Given the description of an element on the screen output the (x, y) to click on. 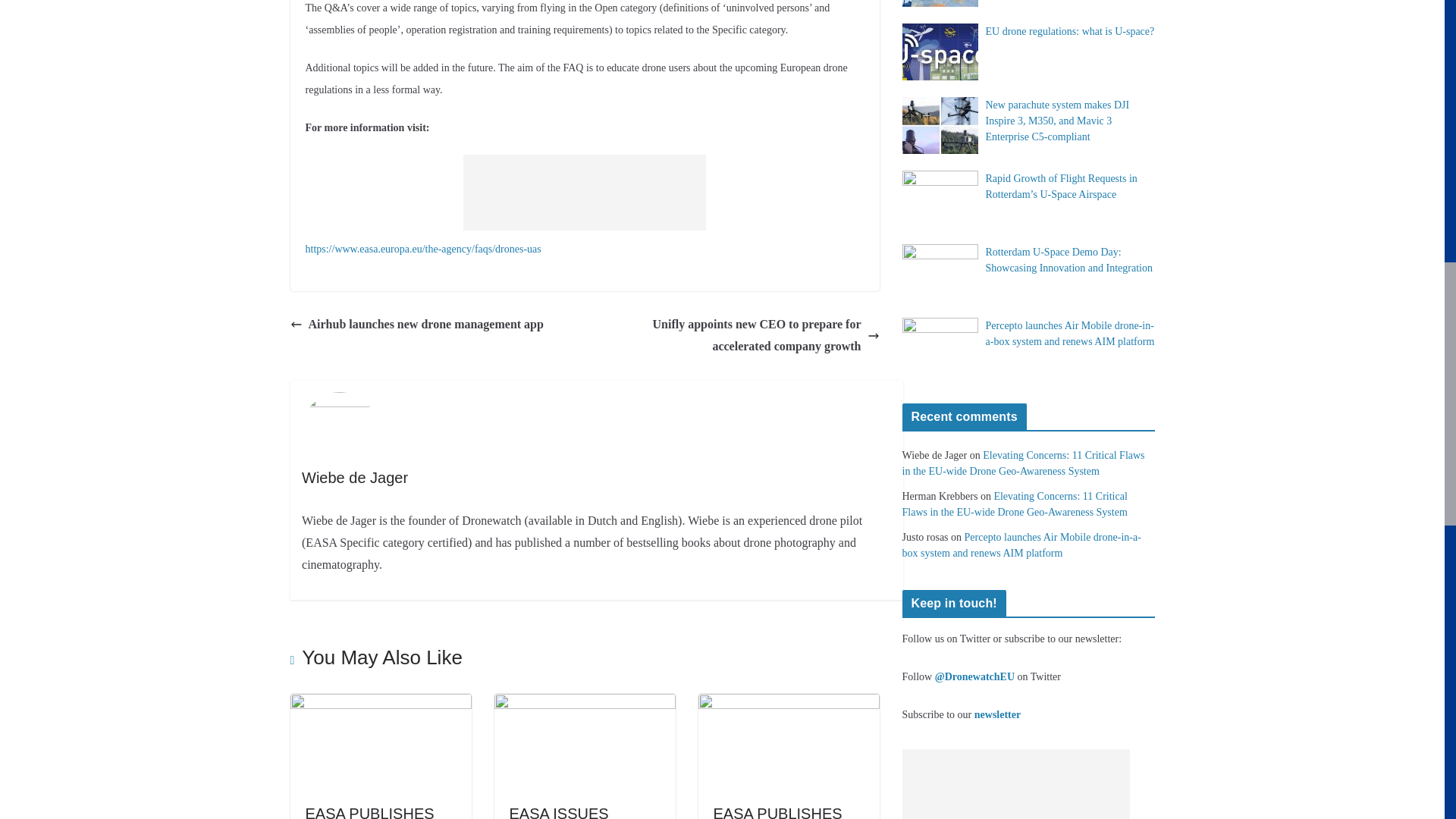
Airhub launches new drone management app (416, 324)
